Given the description of an element on the screen output the (x, y) to click on. 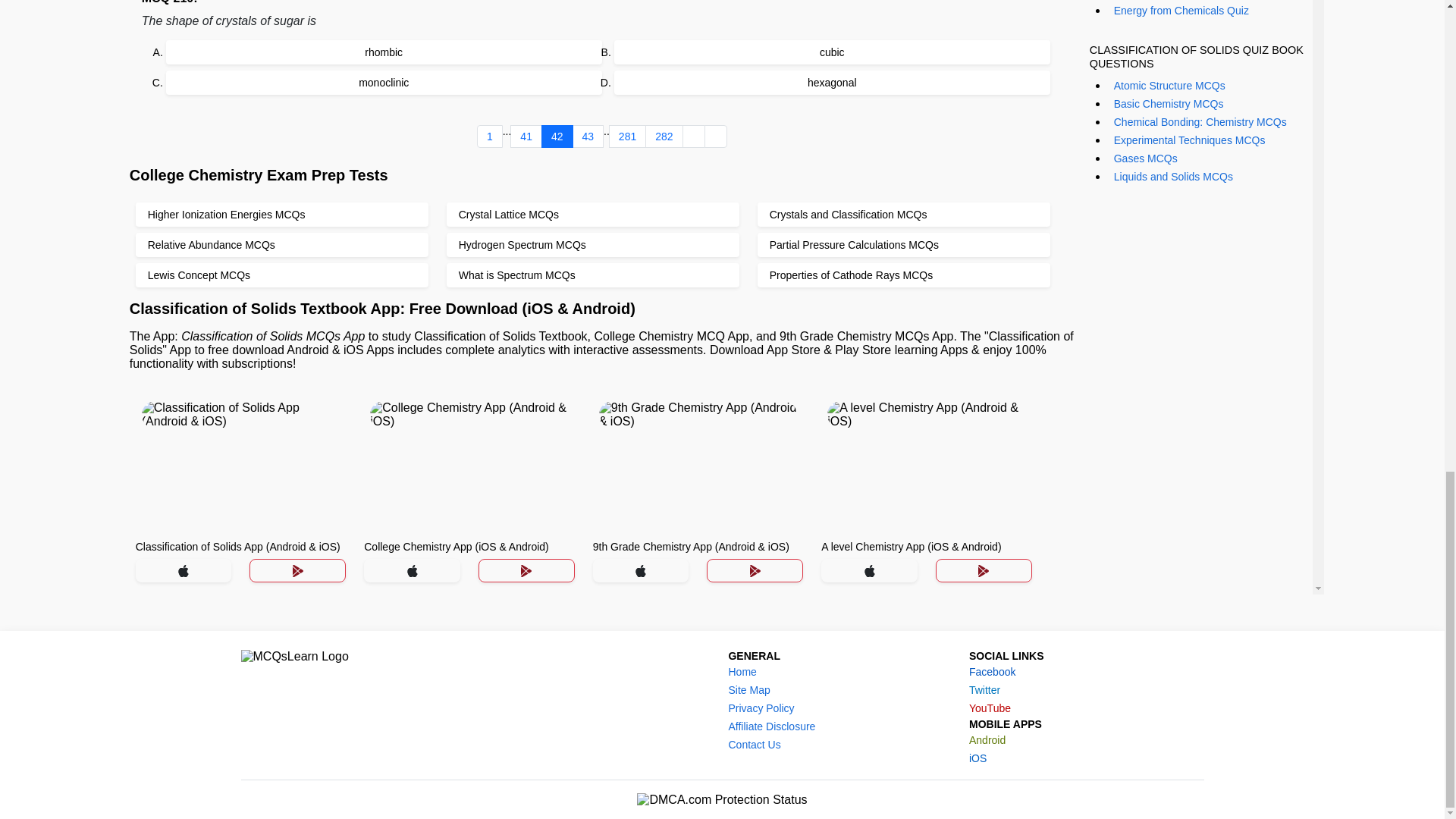
DMCA.com Protection Status (721, 799)
